Given the description of an element on the screen output the (x, y) to click on. 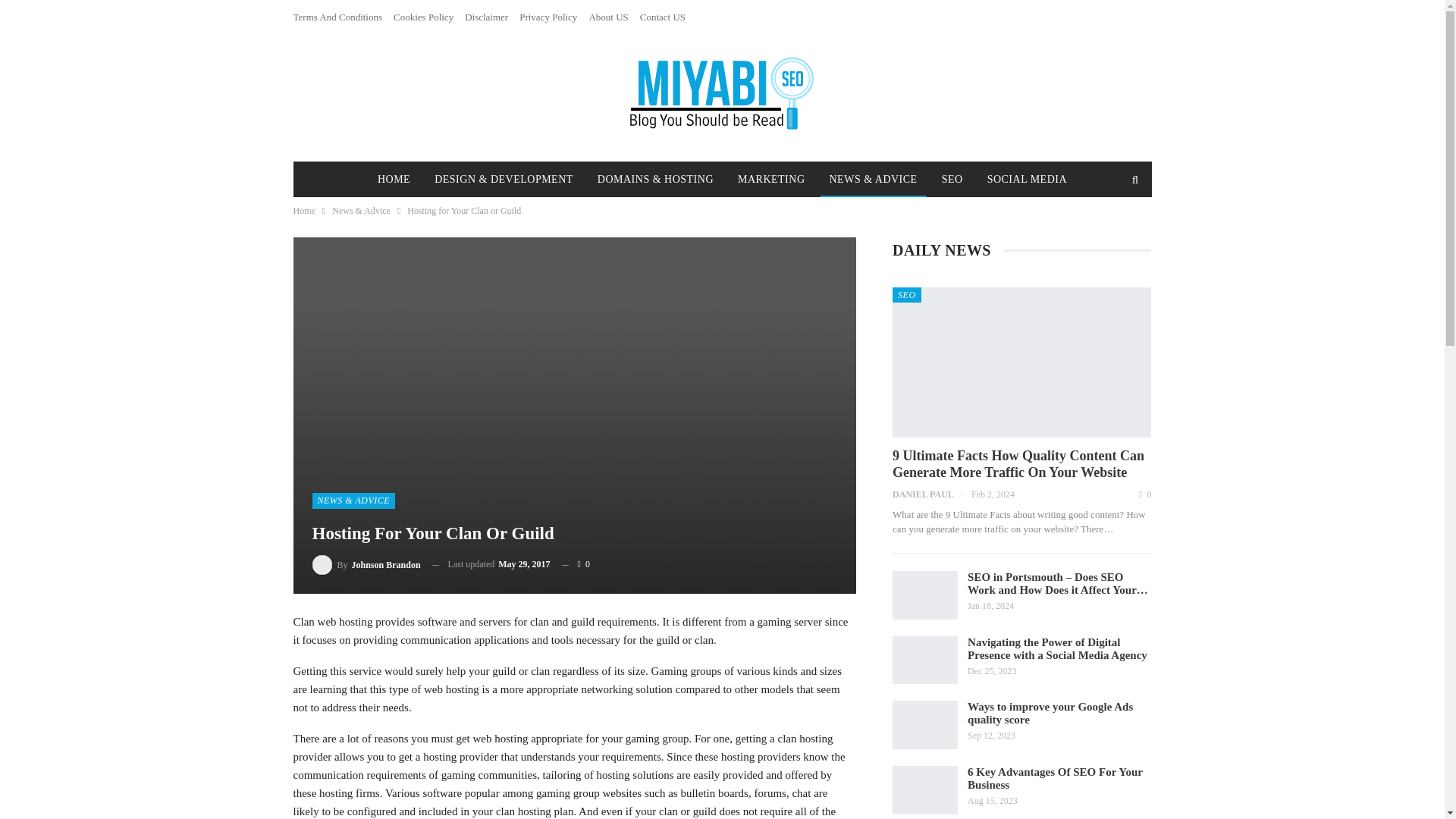
Disclaimer (486, 16)
By Johnson Brandon (366, 564)
SEO (952, 179)
HOME (393, 179)
Cookies Policy (422, 16)
Contact US (662, 16)
About US (607, 16)
MARKETING (771, 179)
Home (303, 210)
Terms And Conditions (336, 16)
Privacy Policy (547, 16)
0 (575, 564)
Browse Author Articles (366, 564)
